Given the description of an element on the screen output the (x, y) to click on. 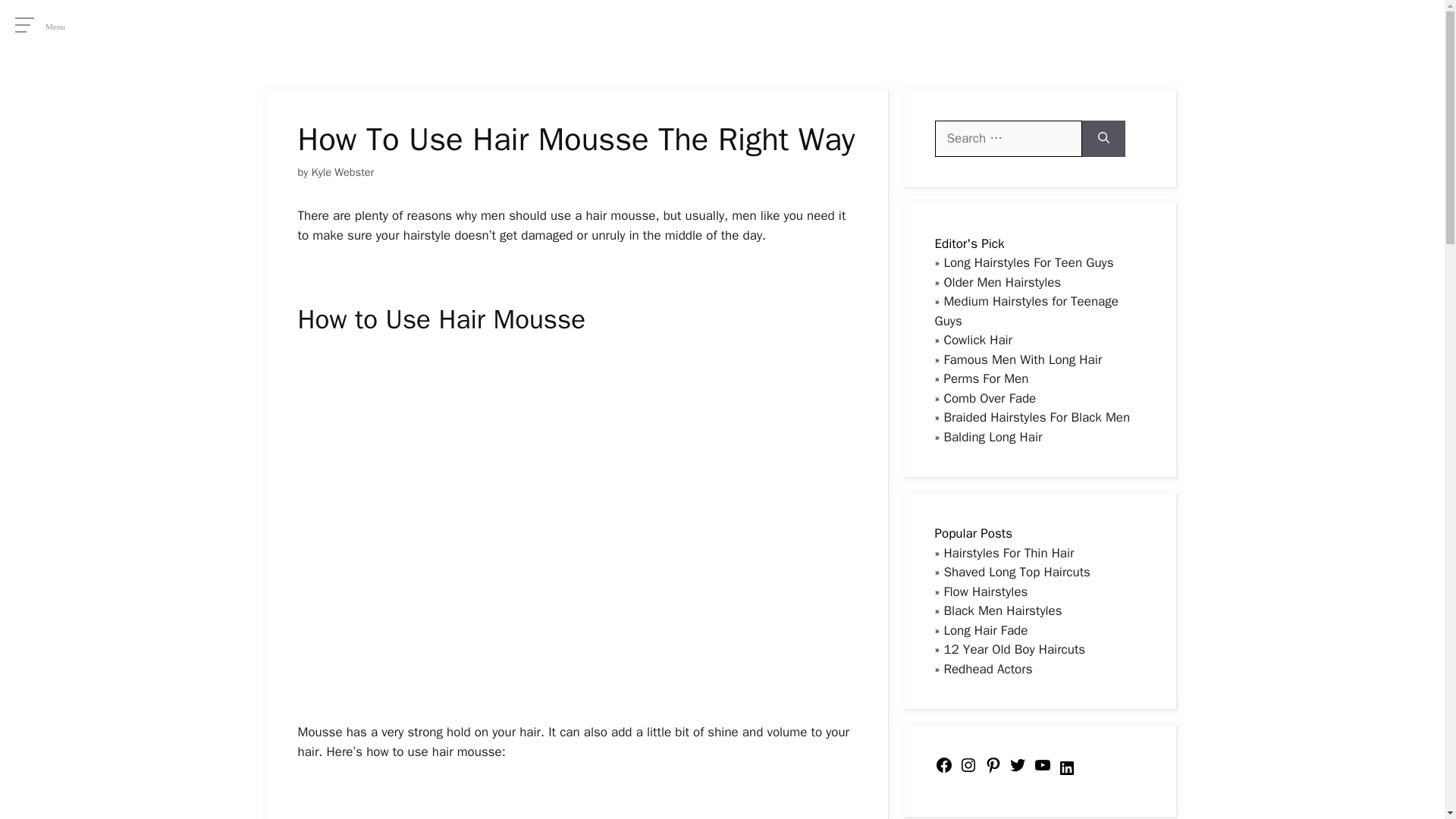
Long Hairstyles For Teen Guys (1028, 262)
Medium Hairstyles for Teenage Guys (1026, 311)
Hairstyles For Thin Hair (1008, 552)
Comb Over Fade (989, 397)
View all posts by Kyle Webster (342, 172)
Flow Hairstyles (985, 591)
Braided Hairstyles For Black Men (1036, 417)
Famous Men With Long Hair (1022, 359)
Balding Long Hair (992, 437)
Cowlick Hair (977, 340)
Black Men Hairstyles (1002, 610)
12 Year Old Boy Haircuts (1013, 649)
Perms For Men (985, 378)
Shaved Long Top Haircuts (1016, 571)
Search for: (1007, 138)
